Given the description of an element on the screen output the (x, y) to click on. 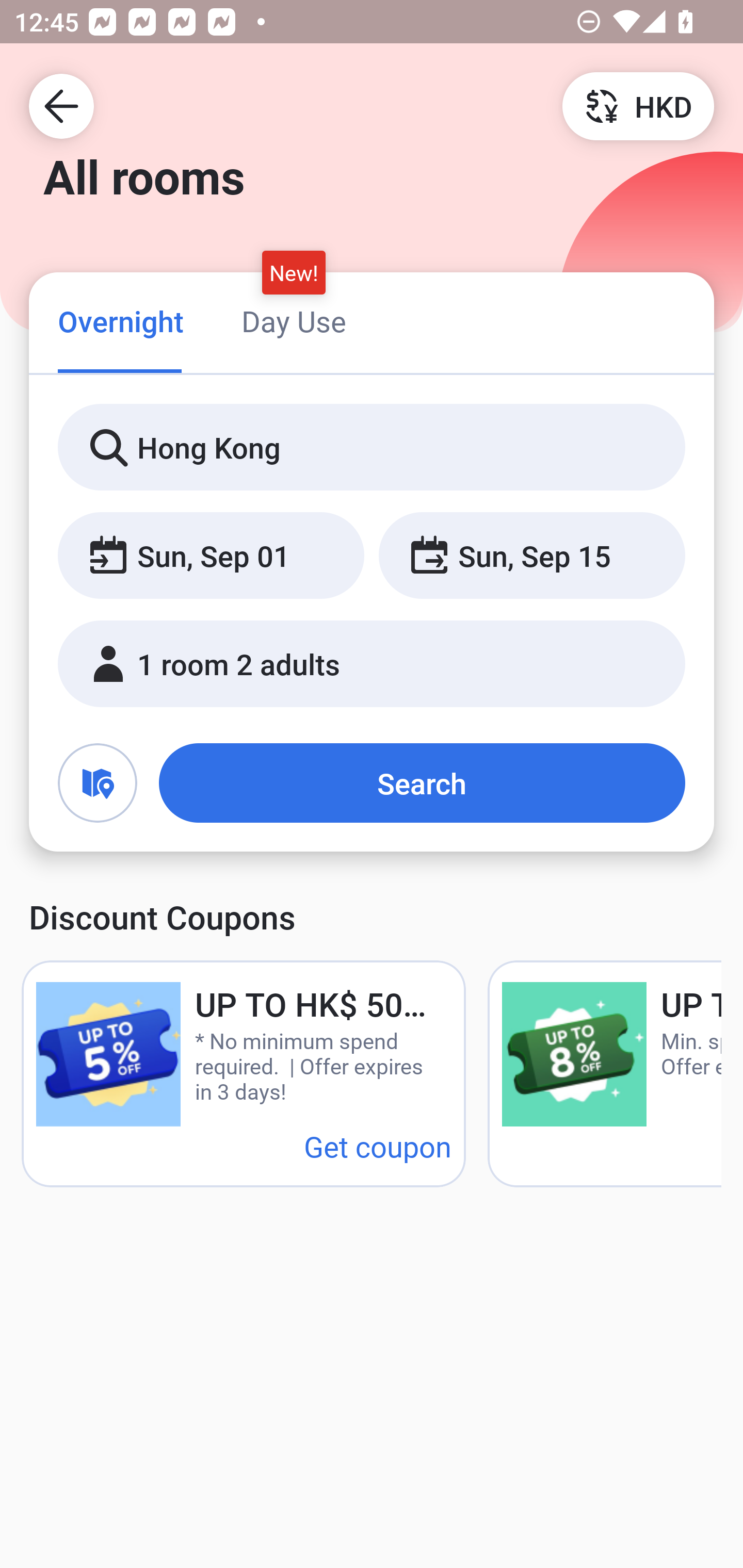
HKD (638, 105)
New! (294, 272)
Day Use (293, 321)
Hong Kong (371, 447)
Sun, Sep 01 (210, 555)
Sun, Sep 15 (531, 555)
1 room 2 adults (371, 663)
Search (422, 783)
Get coupon (377, 1146)
